Given the description of an element on the screen output the (x, y) to click on. 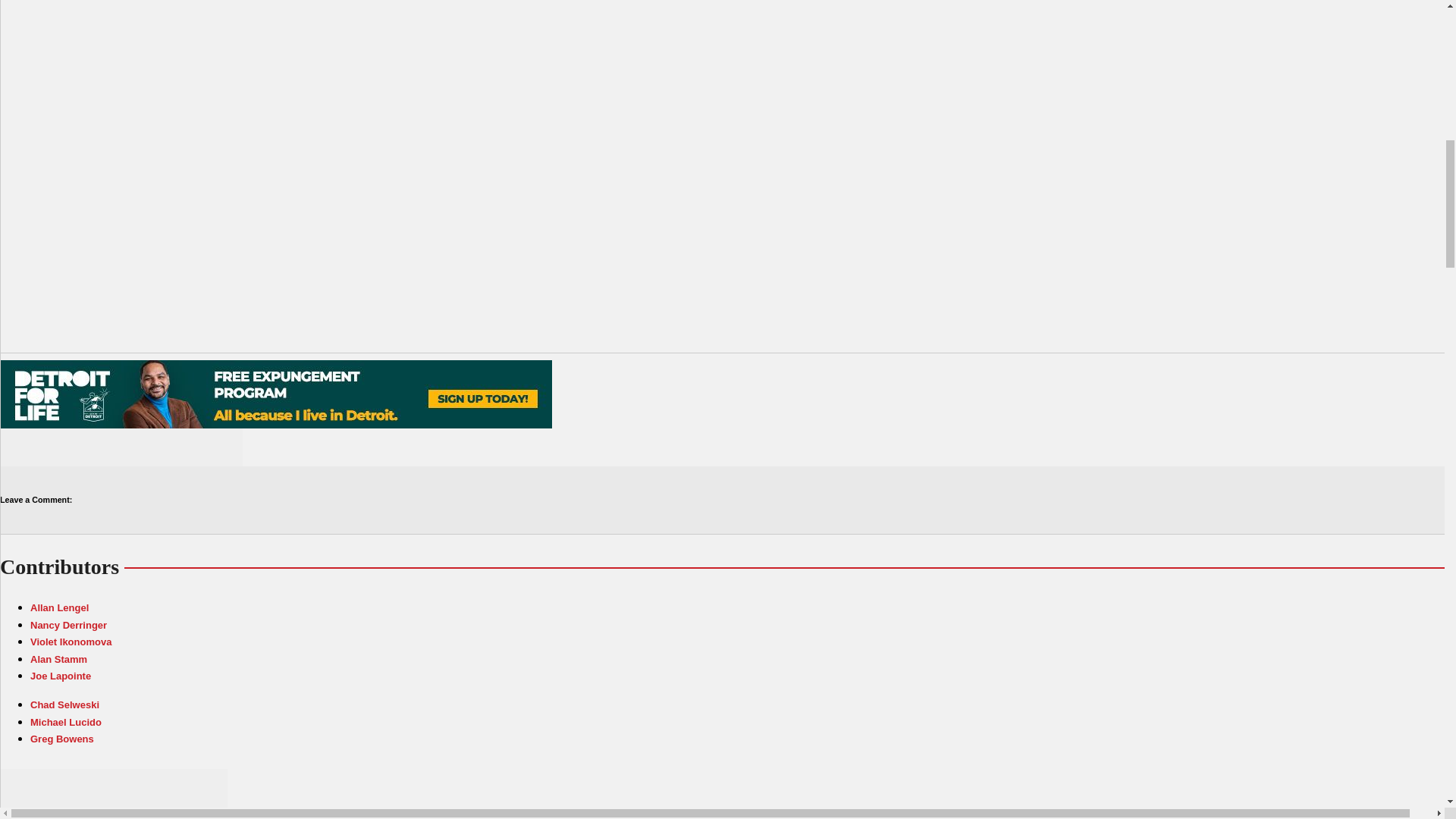
Allan Lengel (59, 607)
Joe Lapointe (60, 675)
Alan Stamm (58, 659)
Chad Selweski (64, 704)
Nancy Derringer (68, 624)
Greg Bowens (62, 738)
Violet Ikonomova (71, 641)
Michael Lucido (65, 722)
